Given the description of an element on the screen output the (x, y) to click on. 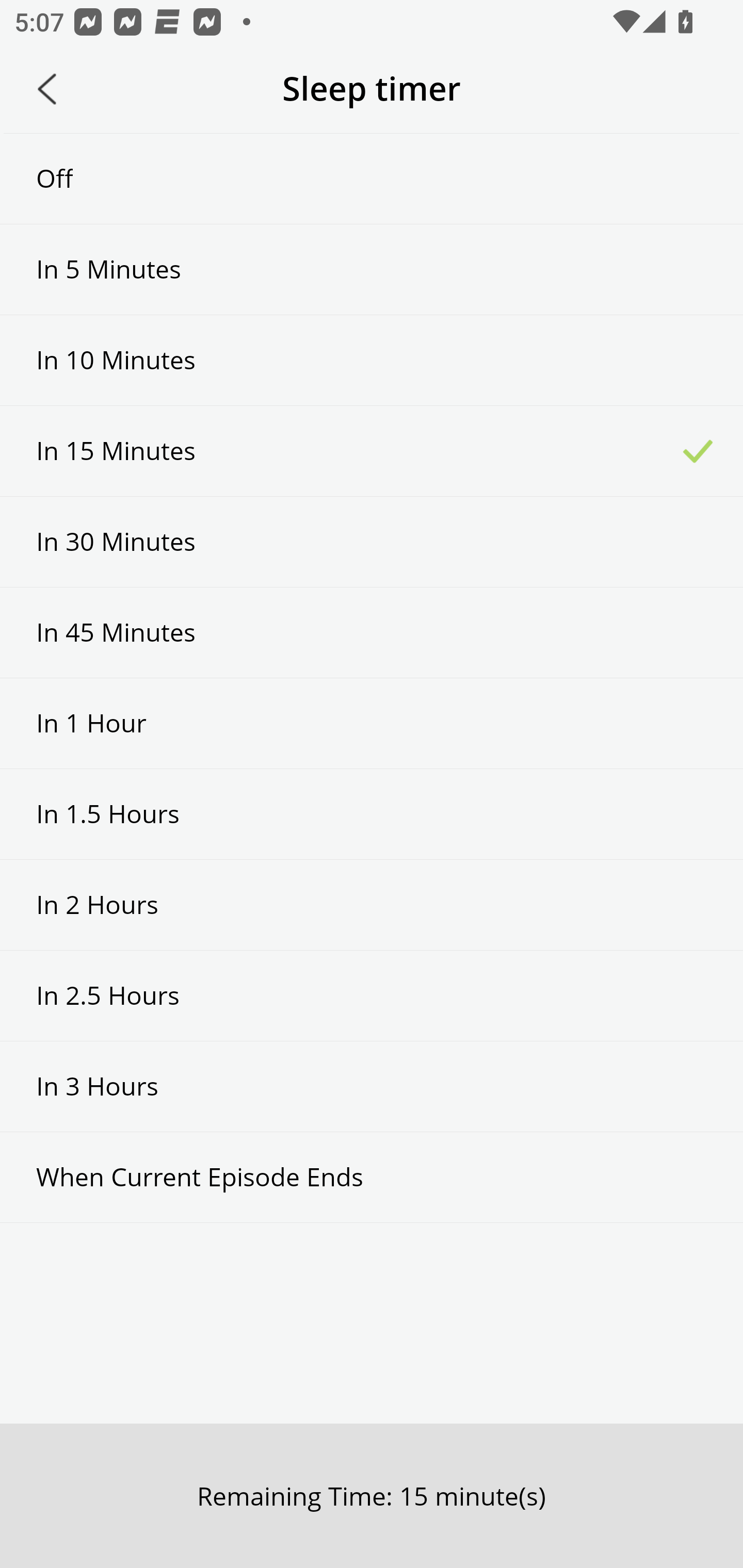
Back (46, 88)
Off (371, 178)
In 5 Minutes (371, 269)
In 10 Minutes (371, 360)
In 15 Minutes (371, 450)
In 30 Minutes (371, 541)
In 45 Minutes (371, 632)
In 1 Hour (371, 723)
In 1.5 Hours (371, 813)
In 2 Hours (371, 904)
In 2.5 Hours (371, 995)
In 3 Hours (371, 1086)
When Current Episode Ends (371, 1177)
